Given the description of an element on the screen output the (x, y) to click on. 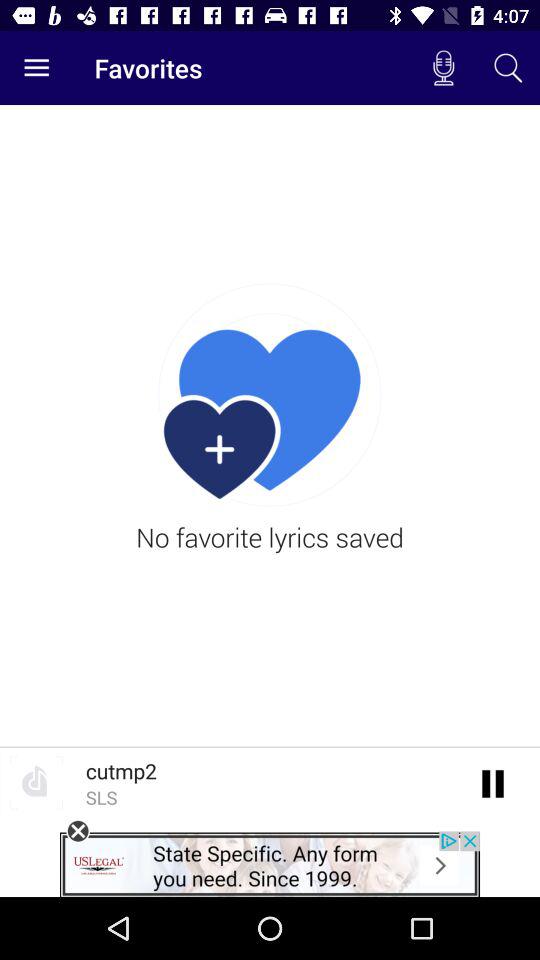
close advertisement (78, 831)
